Given the description of an element on the screen output the (x, y) to click on. 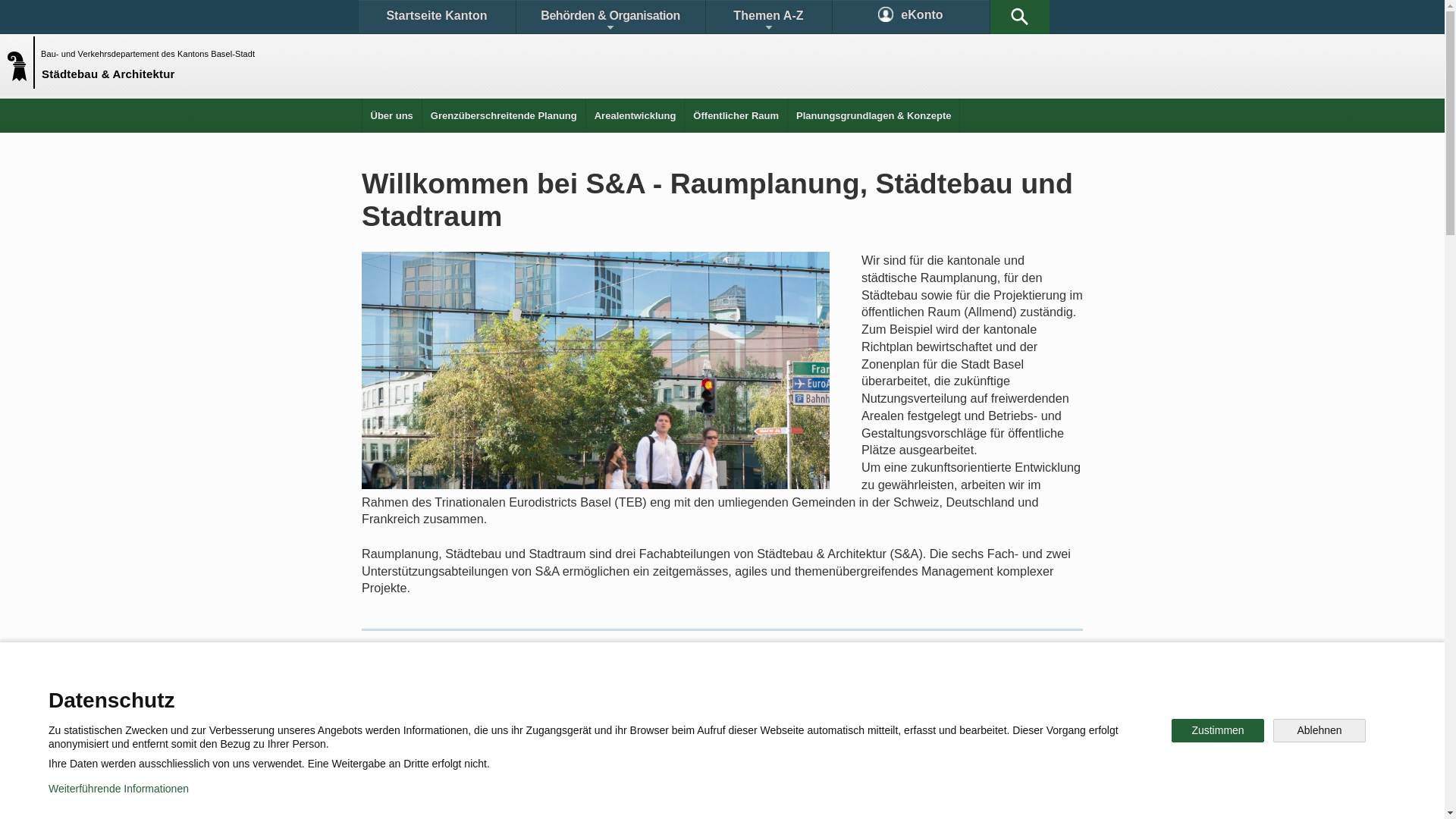
eKonto Element type: text (910, 17)
Kontakt Element type: text (406, 693)
Impressum Element type: text (648, 796)
Nutzungsregelungen Element type: text (542, 796)
Publikationen Element type: text (901, 693)
Zur mobilen Ansicht Element type: text (752, 796)
Ablehnen Element type: text (1319, 730)
Instagram Element type: text (738, 746)
Gesetze Element type: text (703, 693)
Themen A-Z Element type: text (768, 17)
Twitter Element type: text (642, 746)
Bewilligungen Element type: text (611, 693)
Zustimmen Element type: text (1217, 730)
Bild & Multimedia Element type: text (1015, 693)
Arealentwicklung Element type: text (635, 115)
Statistiken Element type: text (794, 693)
Facebook Element type: text (547, 746)
Stadtplan & Karte Element type: text (504, 693)
Planungsgrundlagen & Konzepte Element type: text (873, 115)
Startseite Kanton Element type: text (435, 17)
